Given the description of an element on the screen output the (x, y) to click on. 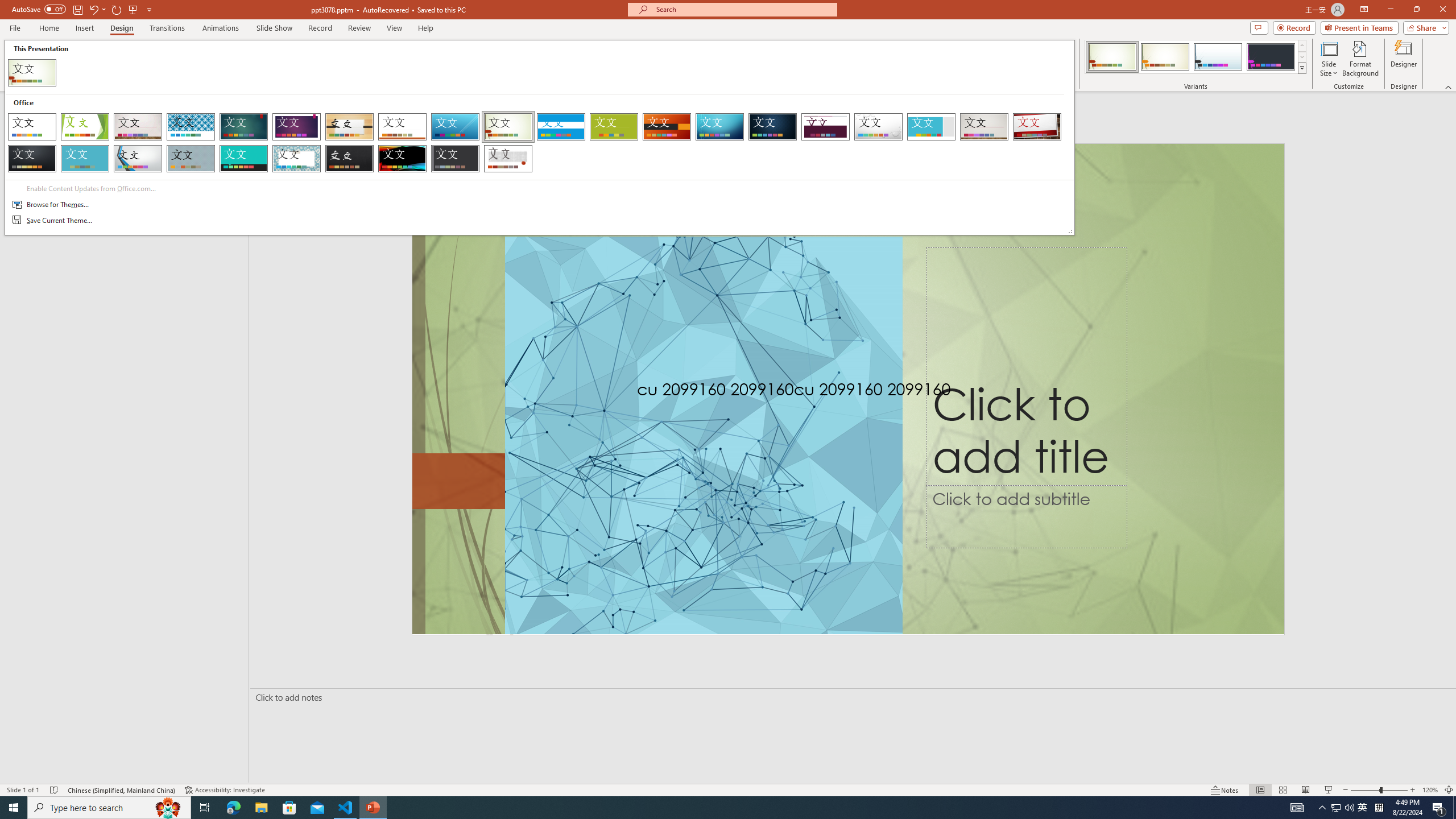
Show desktop (1454, 807)
AutomationID: ThemeVariantsGallery (1195, 56)
Class: MsoCommandBar (728, 789)
Running applications (1335, 807)
